Given the description of an element on the screen output the (x, y) to click on. 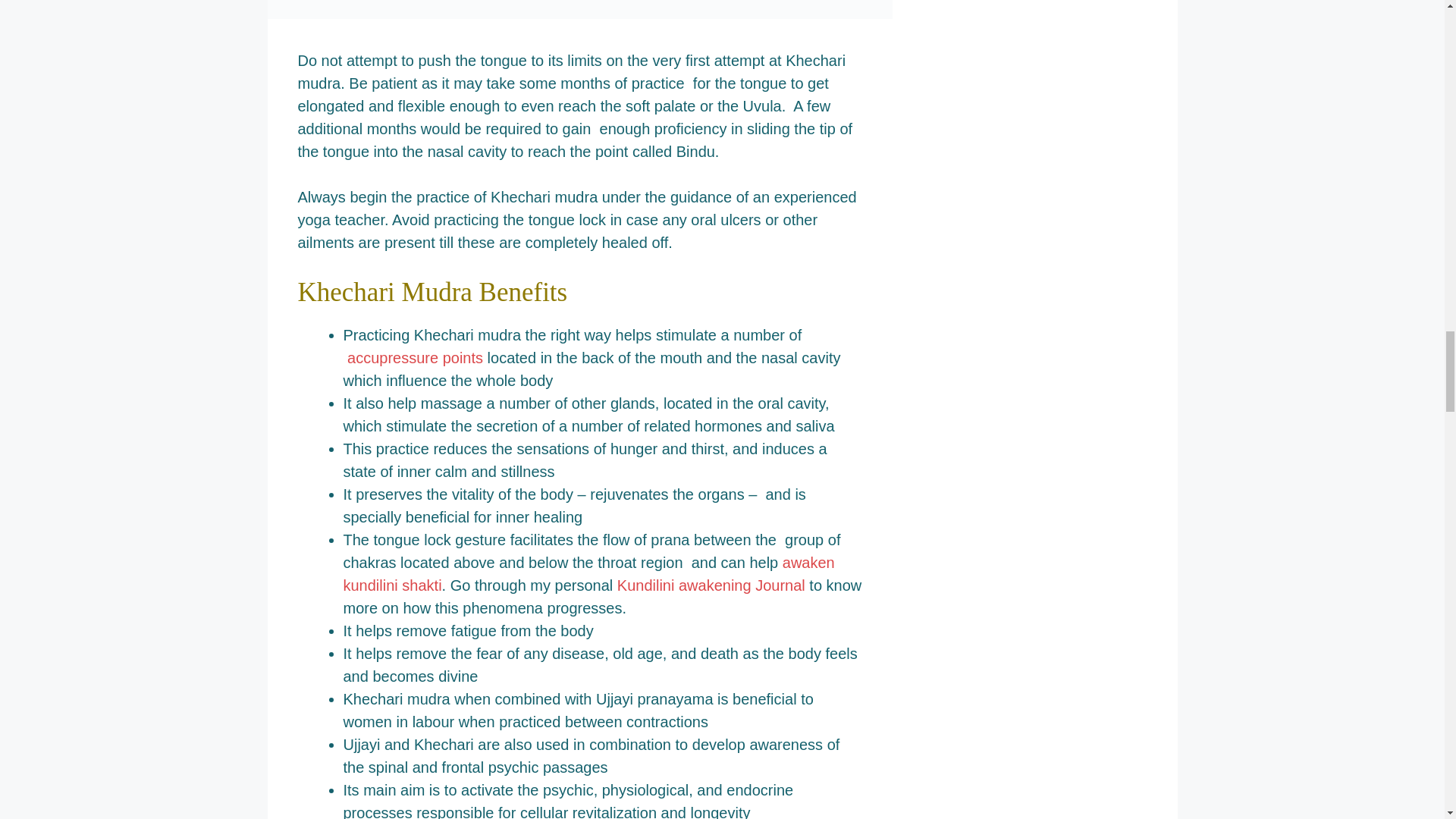
awaken kundilini shakti (588, 573)
accupressure points (415, 357)
Kundilini awakening Journal (711, 585)
